Given the description of an element on the screen output the (x, y) to click on. 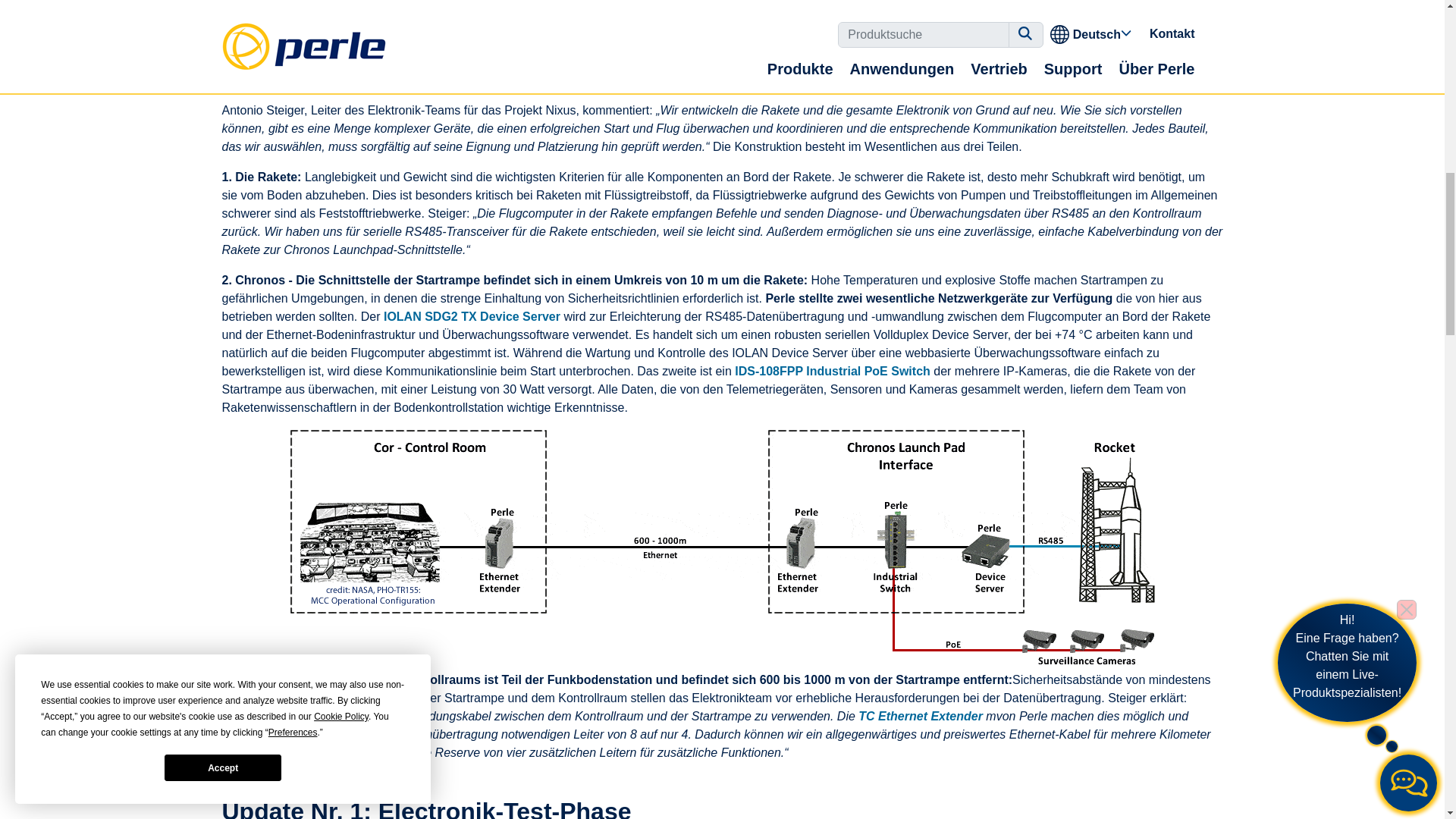
IDS-108FPP Industrial PoE Switch (832, 370)
IOLAN SDG2 TX Device Server (472, 316)
TC Ethernet Extender (920, 716)
